Given the description of an element on the screen output the (x, y) to click on. 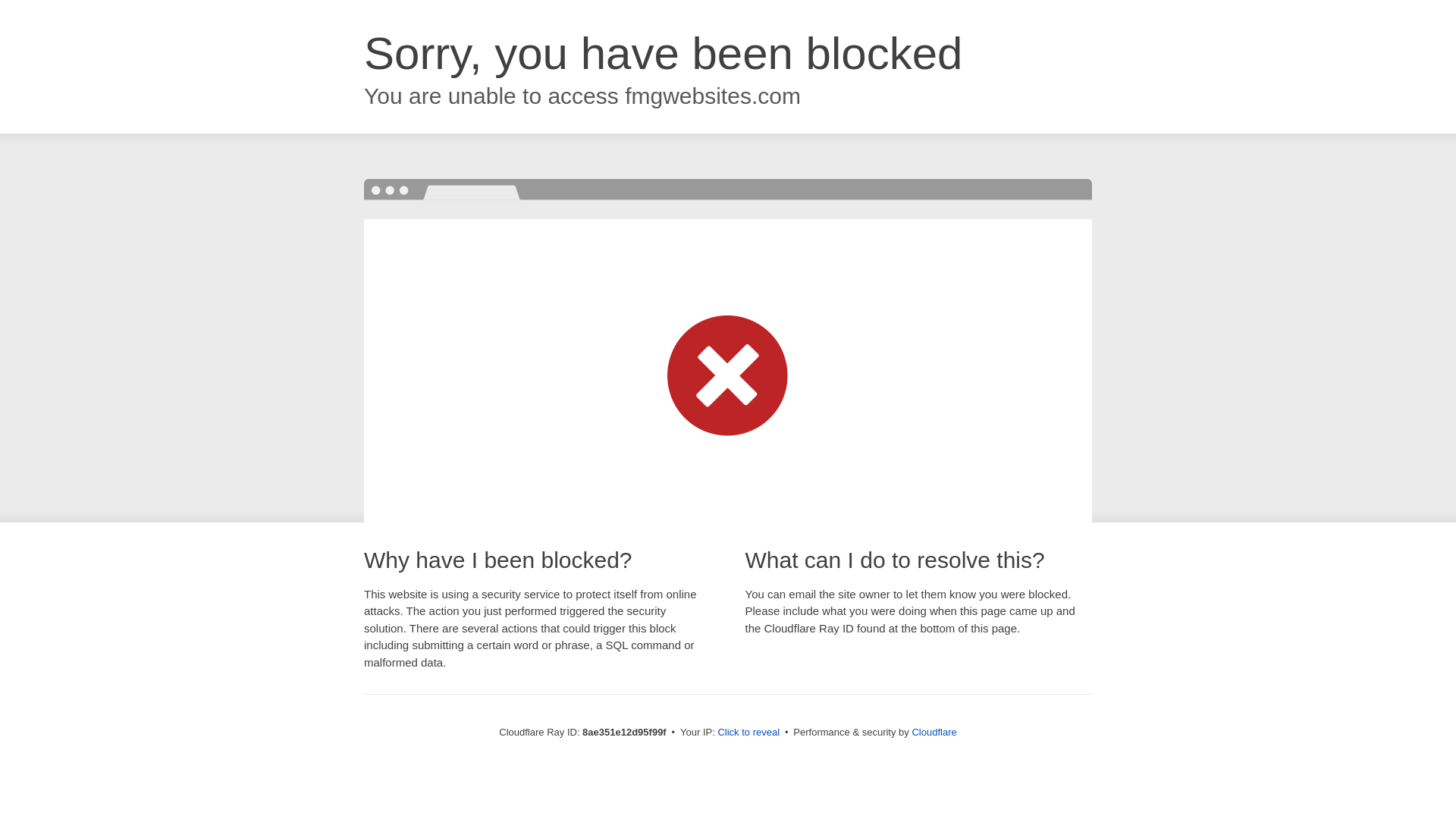
Cloudflare (933, 731)
Click to reveal (747, 732)
